Given the description of an element on the screen output the (x, y) to click on. 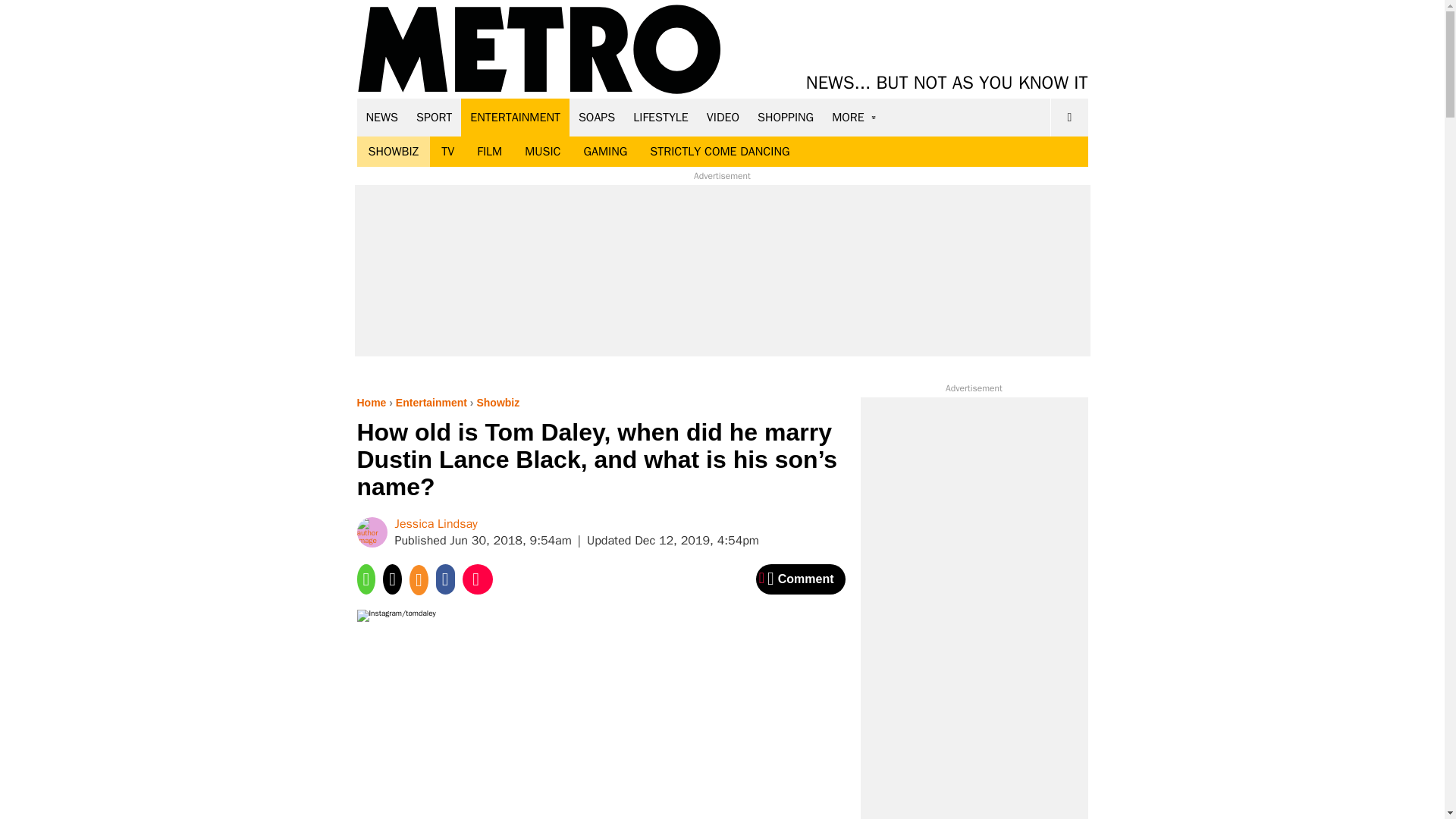
MUSIC (542, 151)
SPORT (434, 117)
Metro (539, 50)
SOAPS (596, 117)
STRICTLY COME DANCING (719, 151)
FILM (489, 151)
NEWS (381, 117)
ENTERTAINMENT (515, 117)
SHOWBIZ (392, 151)
GAMING (605, 151)
